Given the description of an element on the screen output the (x, y) to click on. 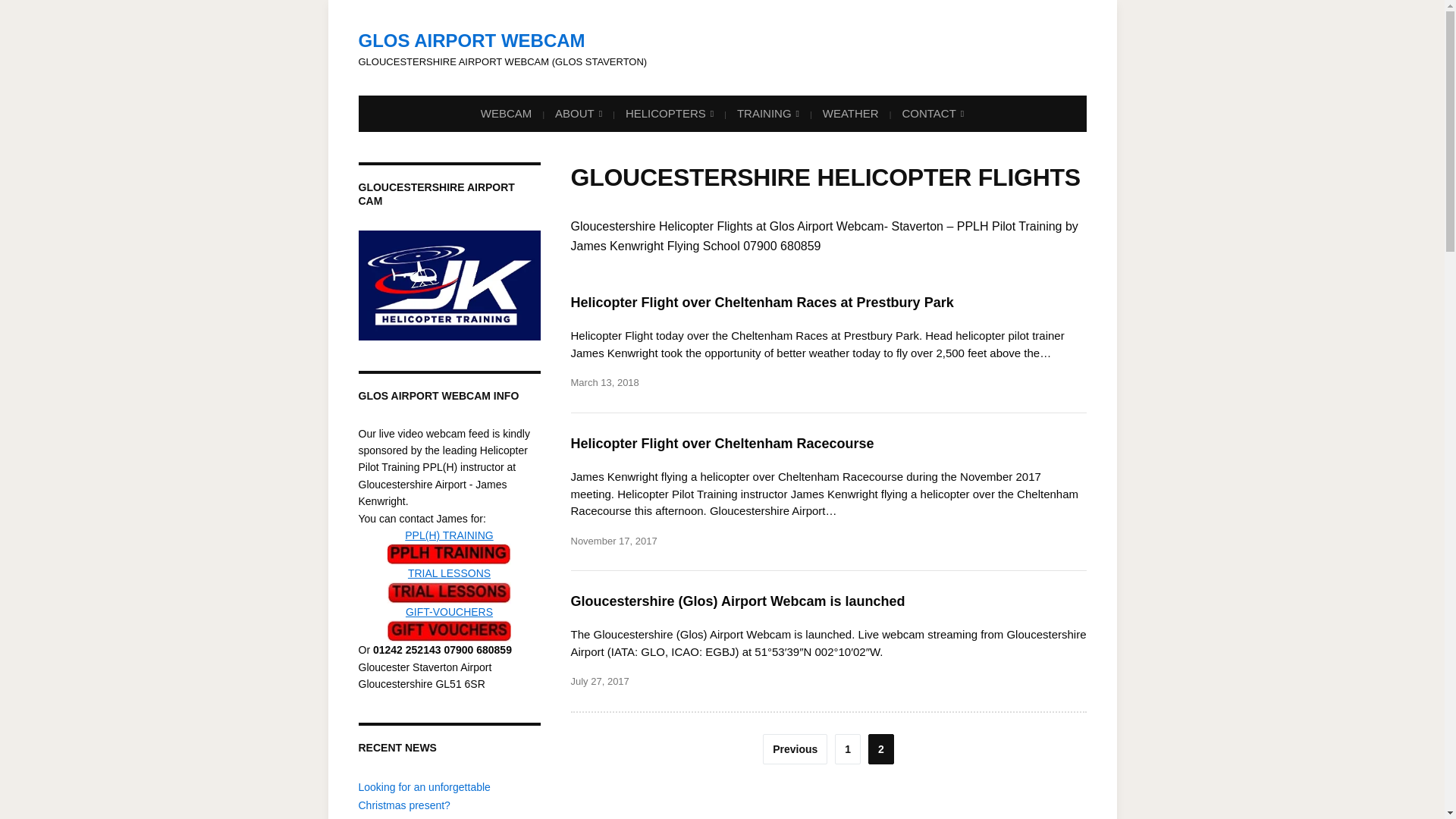
GIFT-VOUCHERS (449, 630)
TRIAL LESSONS (448, 573)
HELICOPTERS (669, 113)
WEATHER (850, 113)
PPLH Training (449, 554)
TRIAL LESSONS (449, 592)
TRAINING (767, 113)
CONTACT (932, 113)
WEBCAM (506, 113)
